Given the description of an element on the screen output the (x, y) to click on. 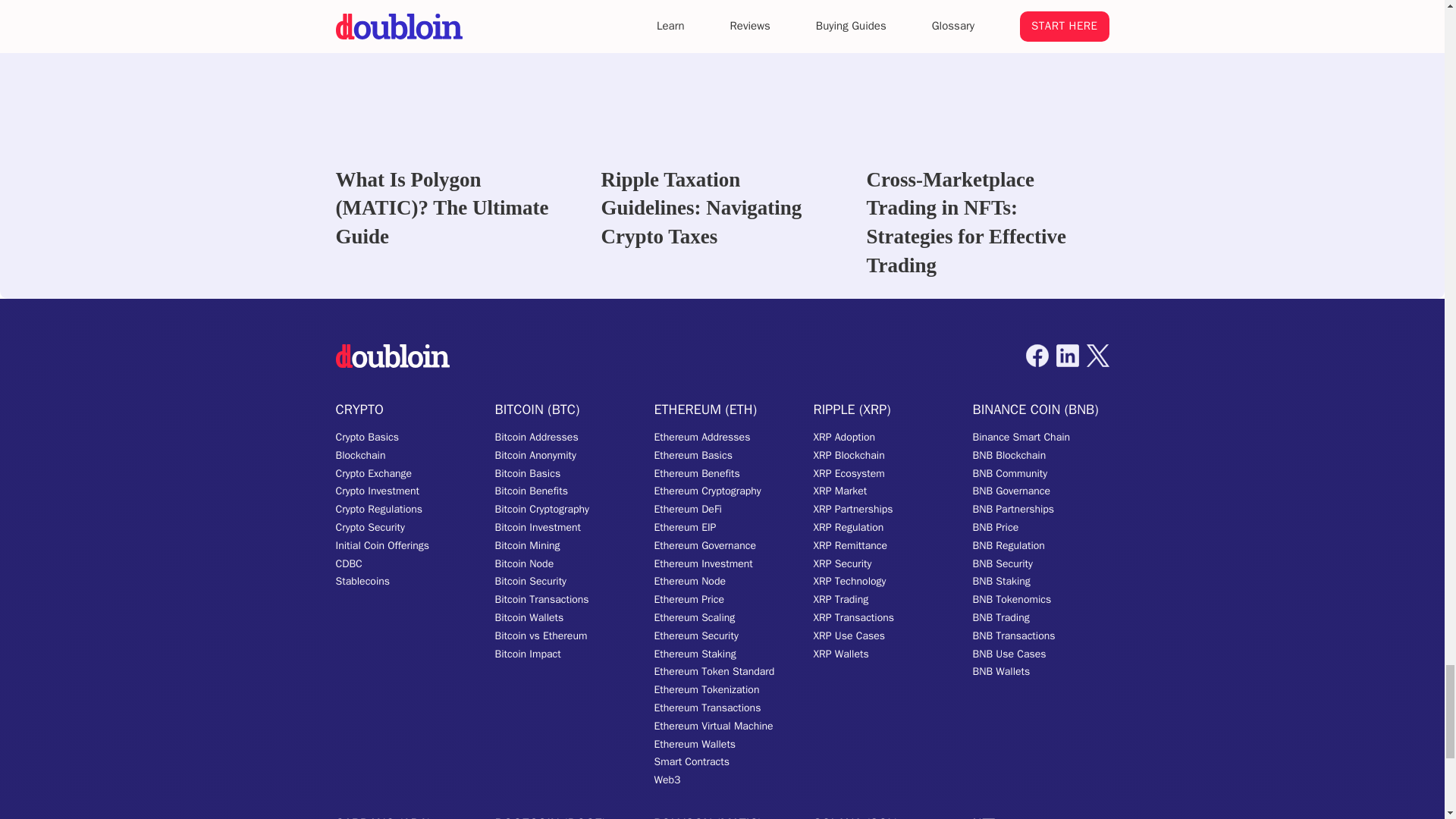
Blockchain (359, 455)
Ripple Taxation Guidelines: Navigating Crypto Taxes (721, 126)
CRYPTO (358, 408)
Crypto Basics (366, 437)
